Given the description of an element on the screen output the (x, y) to click on. 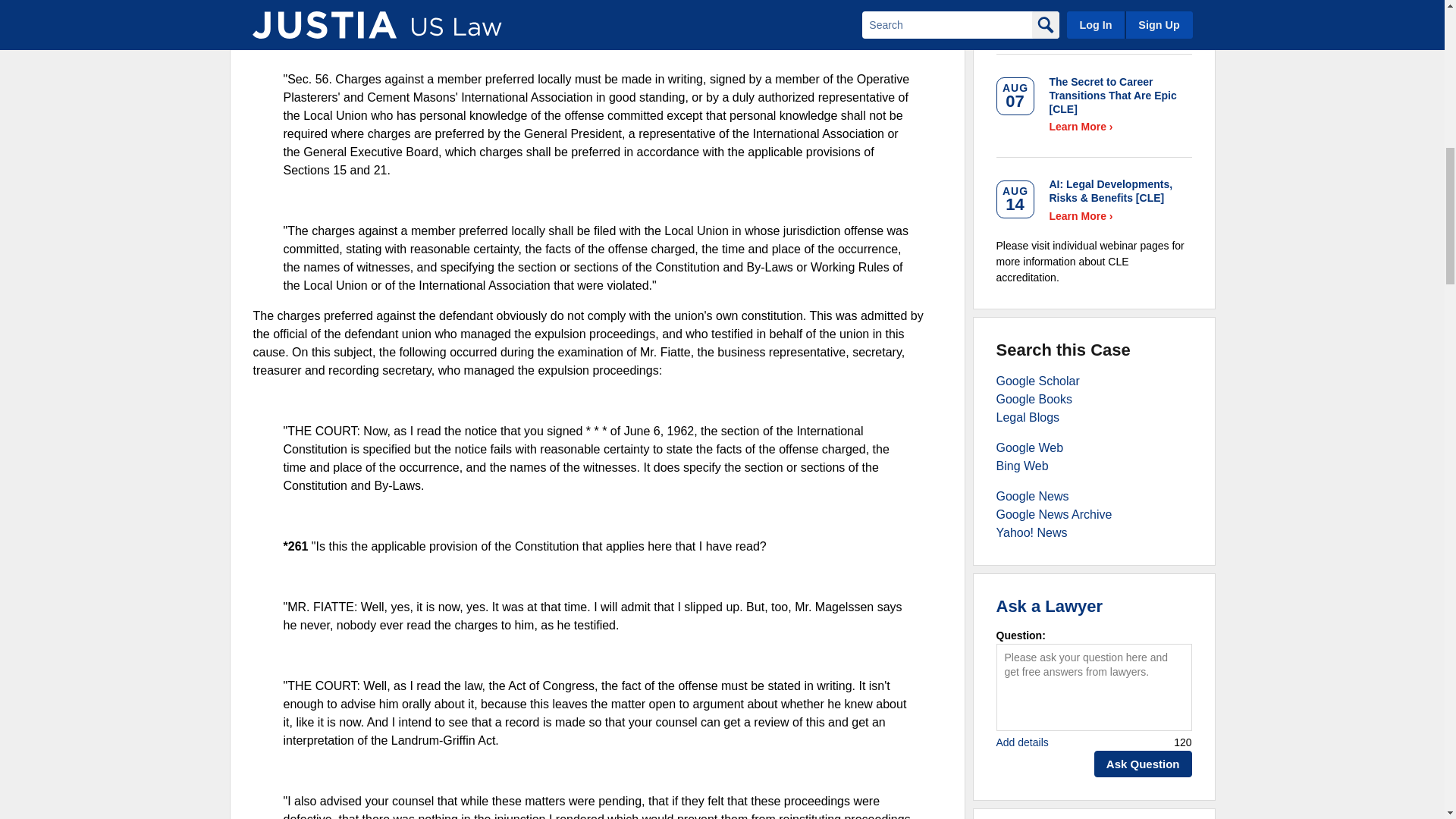
Law - Legal Blogs (1027, 417)
Law - Yahoo! News (1031, 532)
Law - Google Books (1034, 399)
Law - Google Scholar (1037, 380)
Law - Google News (1031, 495)
Law - Google Web (1029, 447)
Law - Google News Archive (1053, 513)
Law - Bing Web (1021, 465)
